Given the description of an element on the screen output the (x, y) to click on. 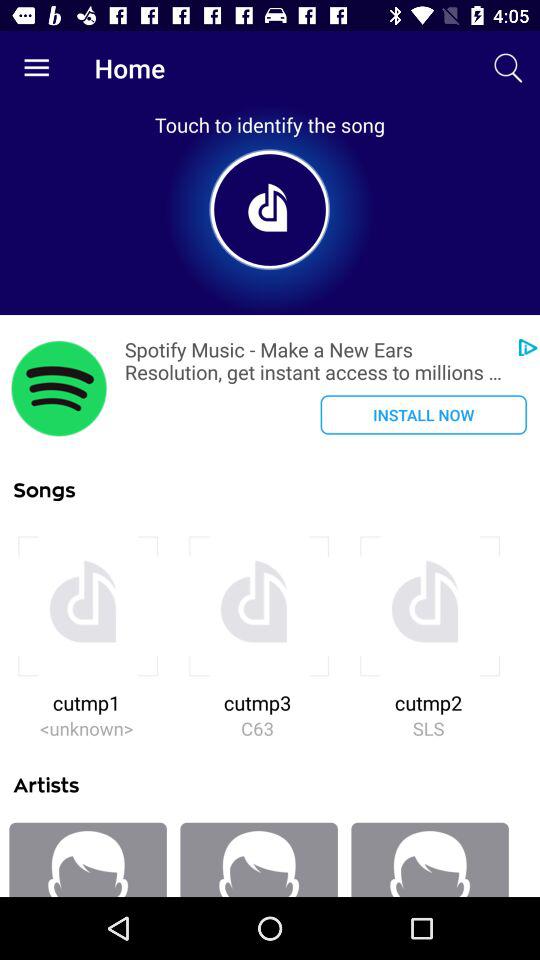
advertisement banner for spotify (59, 388)
